Given the description of an element on the screen output the (x, y) to click on. 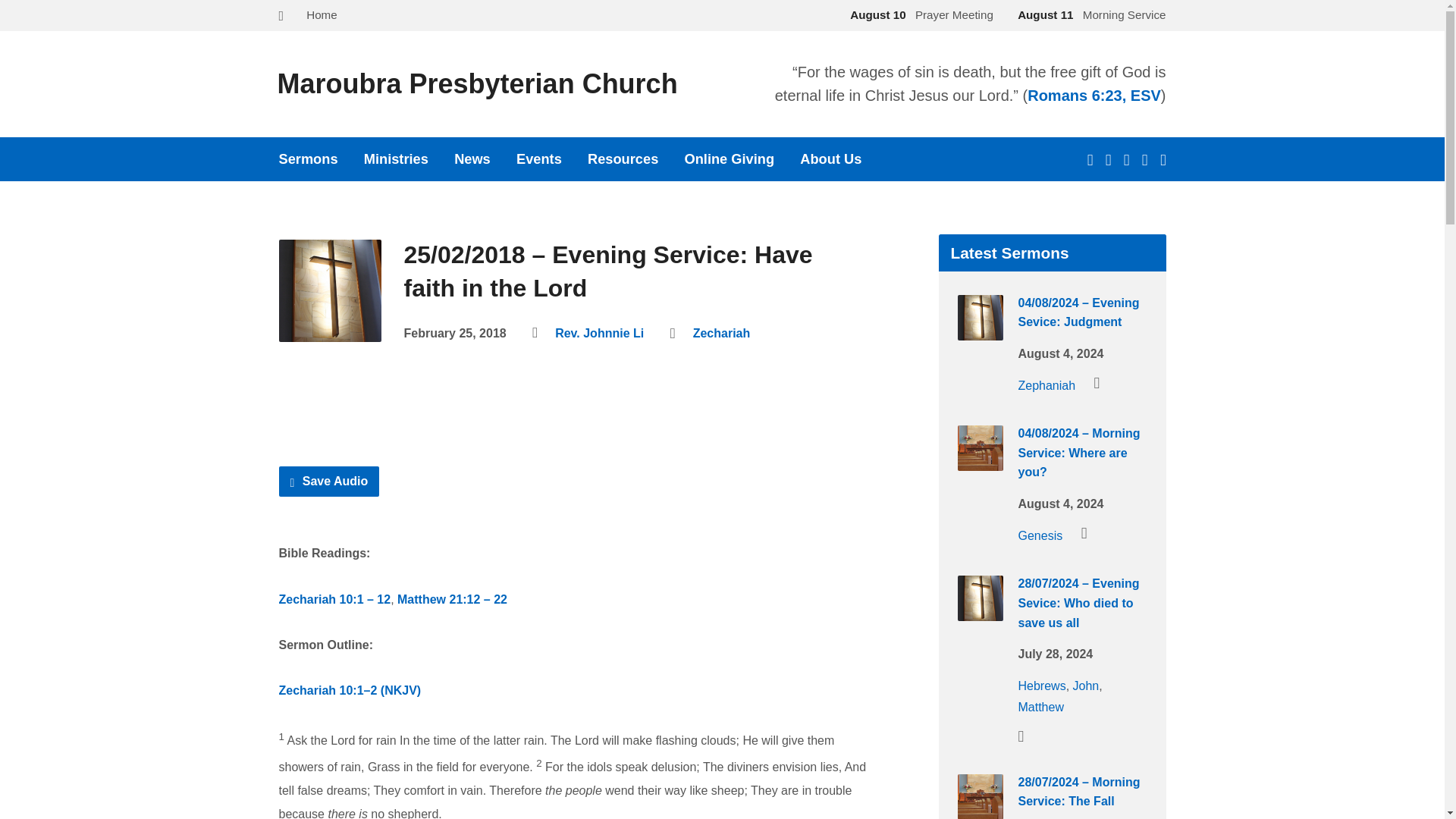
Maroubra Presbyterian Church (478, 83)
Download Audio (329, 481)
Rev. Johnnie Li (598, 332)
Sermons (308, 159)
About Us (830, 159)
Save Audio (329, 481)
Events (539, 159)
Romans 6:23, ESV (1093, 95)
Resources (623, 159)
August 11 Morning Service (1088, 14)
